Given the description of an element on the screen output the (x, y) to click on. 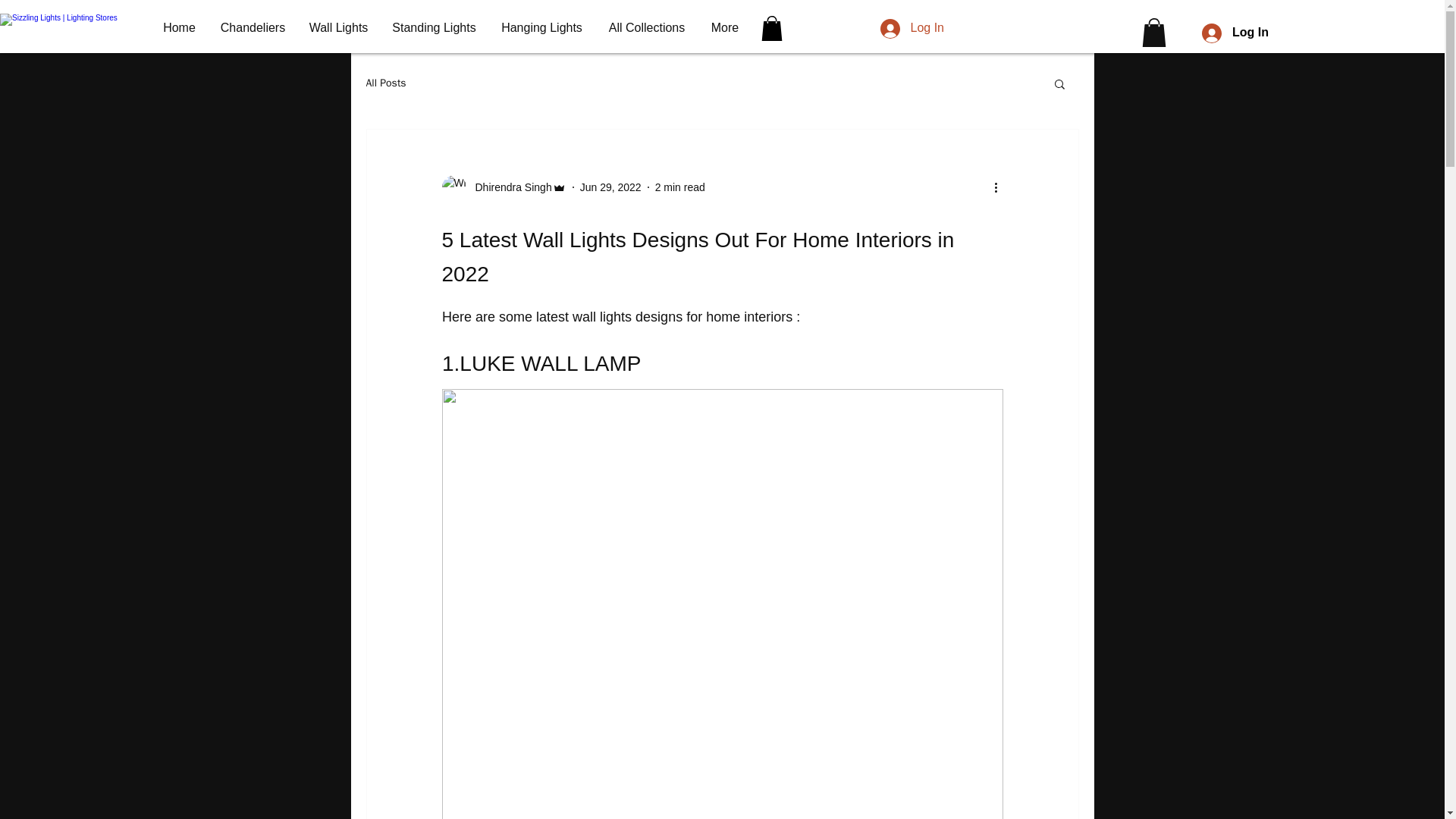
Jun 29, 2022 (610, 186)
Wall Lights (338, 27)
Hanging Lights (541, 27)
Dhirendra Singh (503, 187)
All Collections (646, 27)
Log In (1235, 32)
Dhirendra Singh  (508, 187)
Home (178, 27)
Log In (912, 27)
Standing Lights (433, 27)
